Given the description of an element on the screen output the (x, y) to click on. 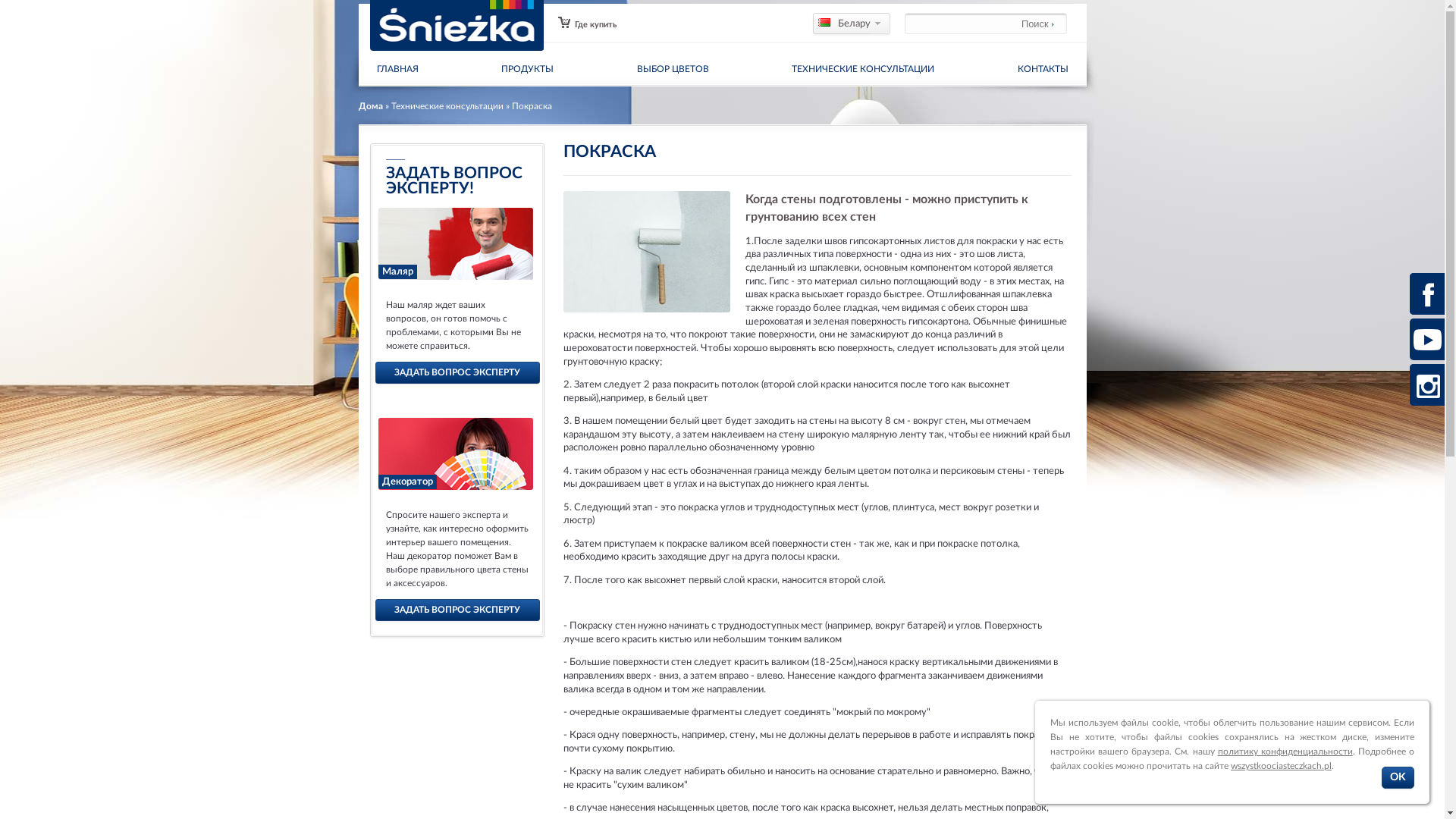
wszystkoociasteczkach.pl Element type: text (1280, 765)
